Given the description of an element on the screen output the (x, y) to click on. 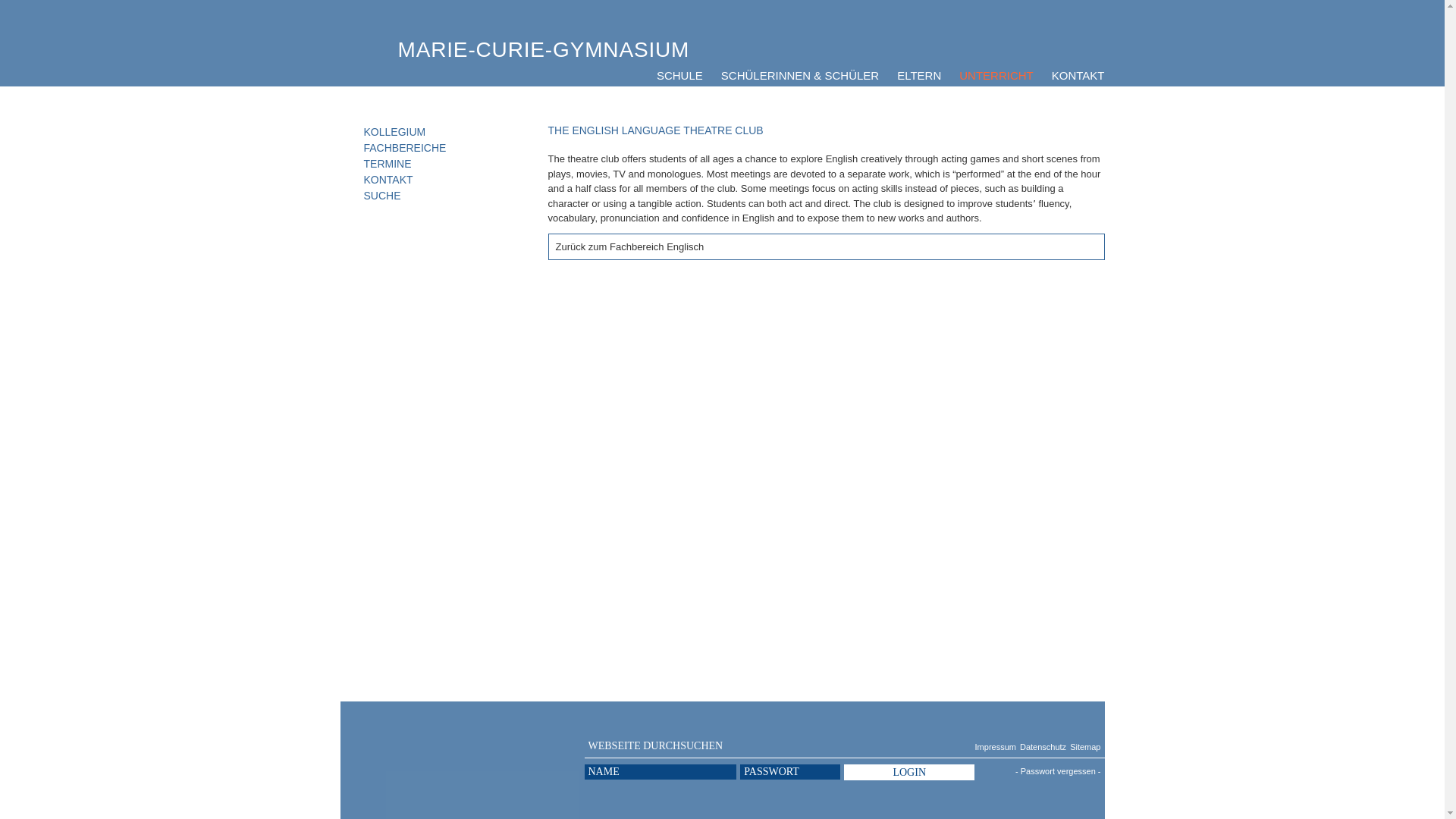
MARIE-CURIE-GYMNASIUM (542, 49)
SCHULE (679, 76)
Login (909, 772)
